Given the description of an element on the screen output the (x, y) to click on. 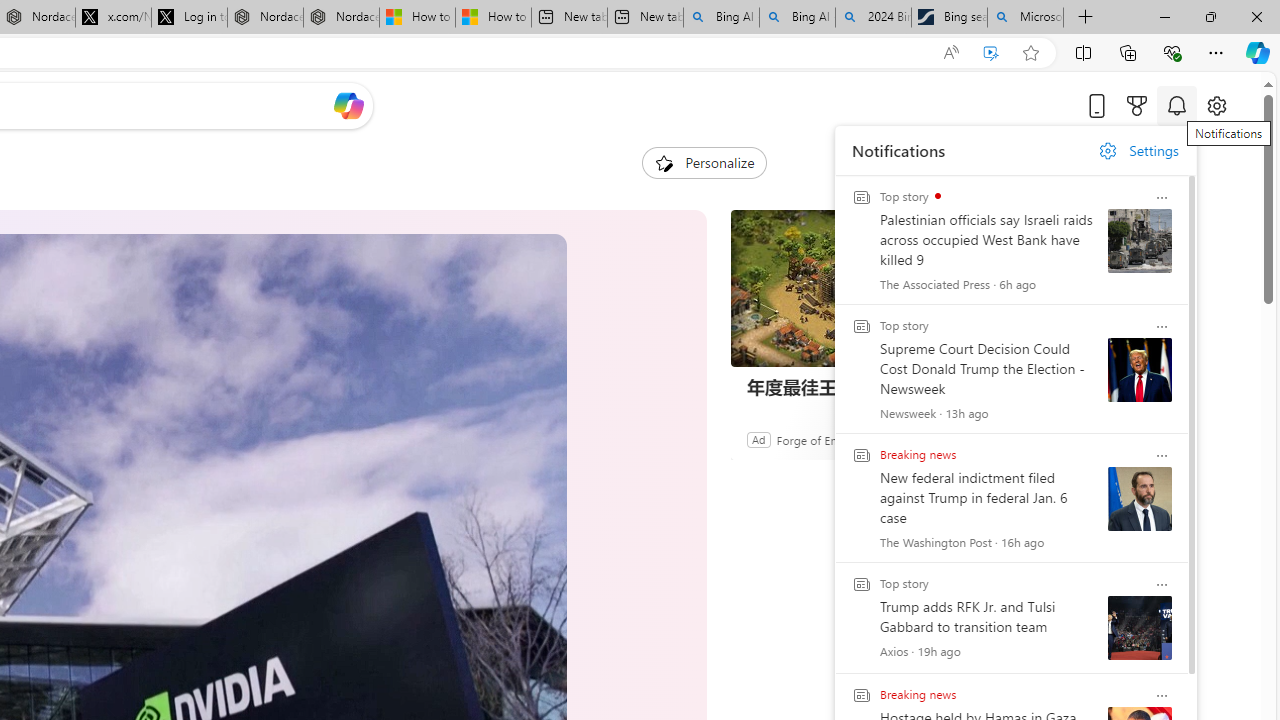
Forge of Empires (820, 439)
Card Action (1162, 696)
Open settings (1216, 105)
Microsoft Bing Timeline - Search (1025, 17)
